Given the description of an element on the screen output the (x, y) to click on. 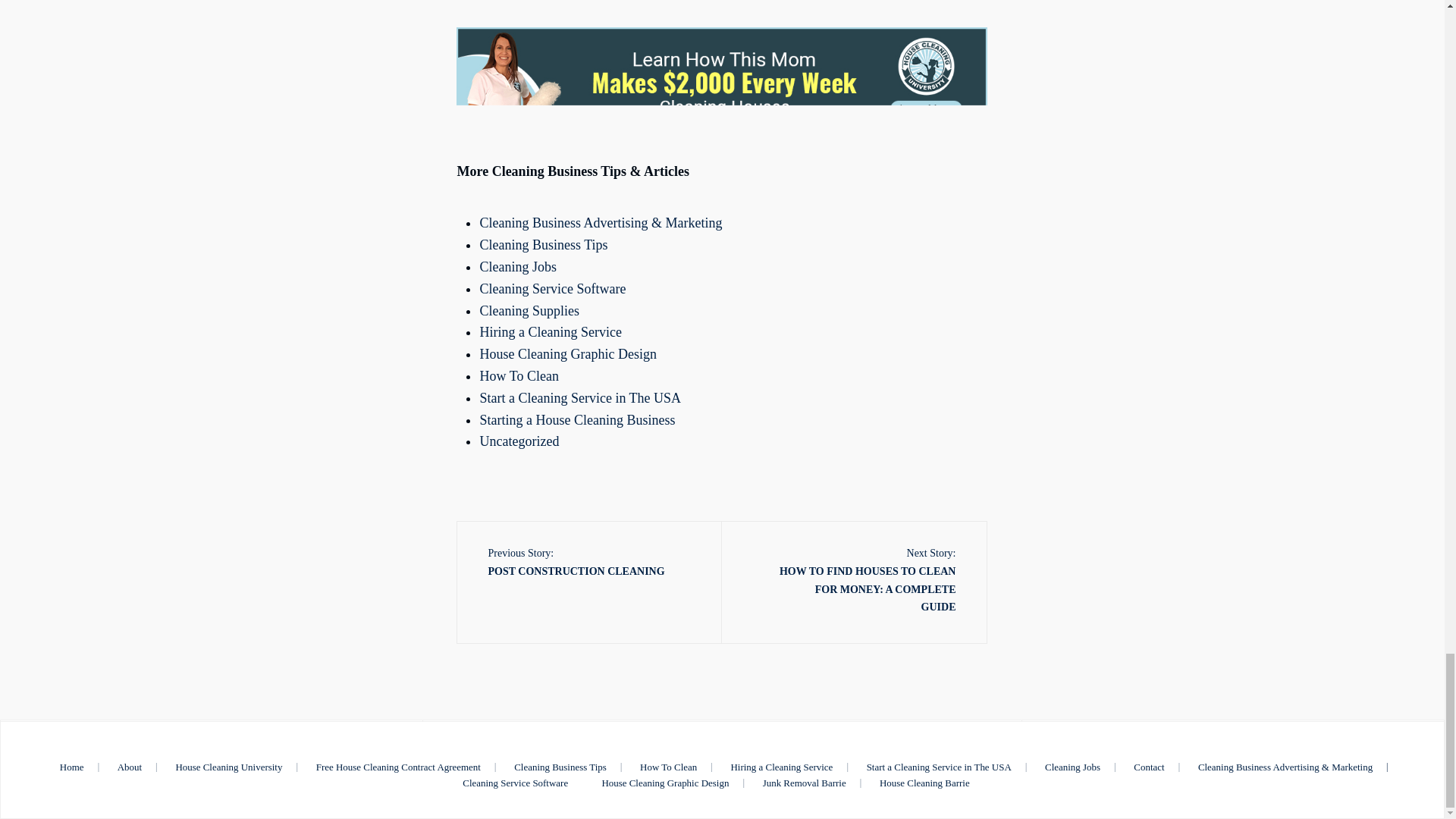
Cleaning Business Tips (543, 244)
Free House Cleaning Contract Agreement (398, 766)
Cleaning Service Software (552, 288)
Home (71, 766)
Cleaning Supplies (529, 310)
House Cleaning University (228, 766)
Cleaning Jobs (1072, 766)
Start a Cleaning Service in The USA (938, 766)
How To Clean (518, 376)
Cleaning Business Tips (560, 766)
